Given the description of an element on the screen output the (x, y) to click on. 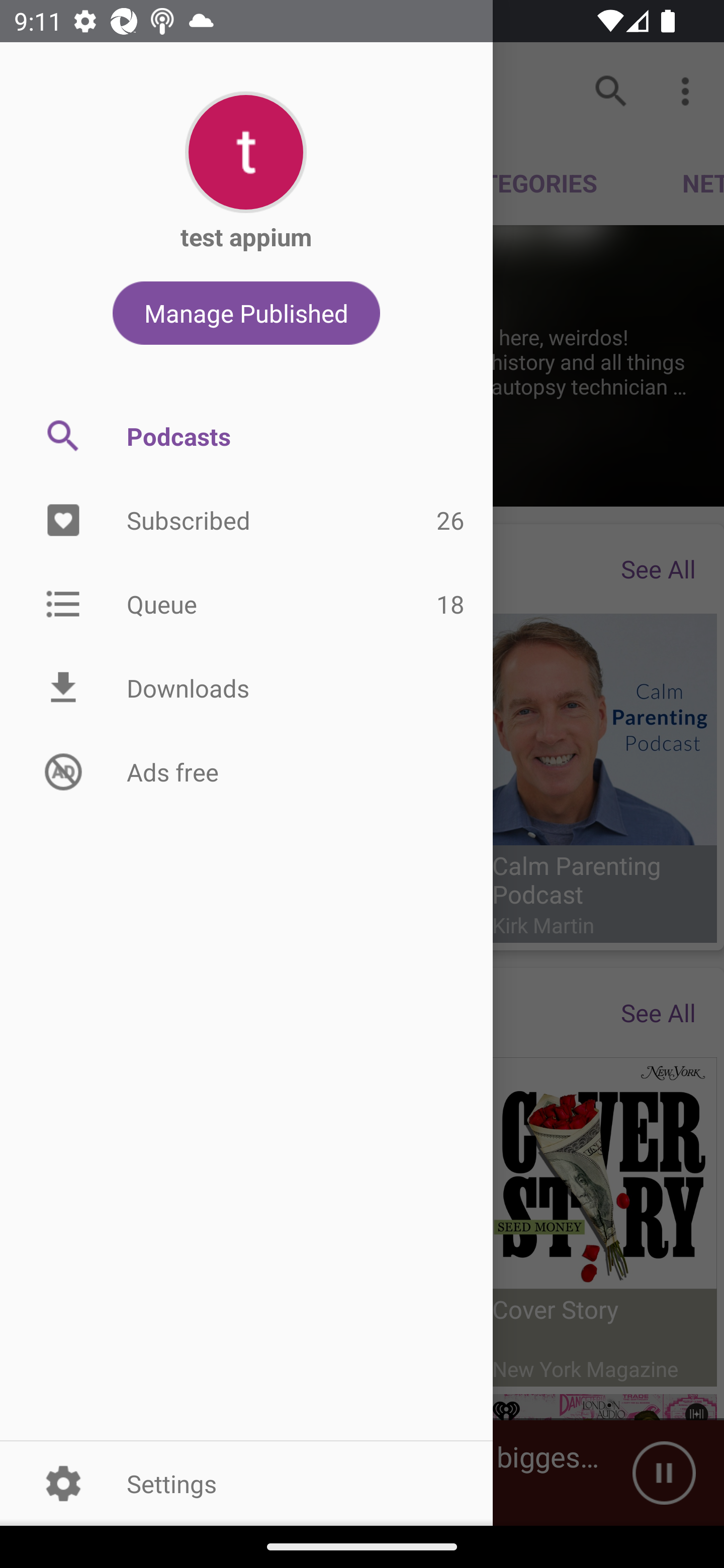
Manage Published (246, 312)
Picture Podcasts (246, 435)
Picture Subscribed 26 (246, 520)
Picture Queue 18 (246, 603)
Picture Downloads (246, 688)
Picture Ads free (246, 771)
Settings Picture Settings (246, 1482)
